Given the description of an element on the screen output the (x, y) to click on. 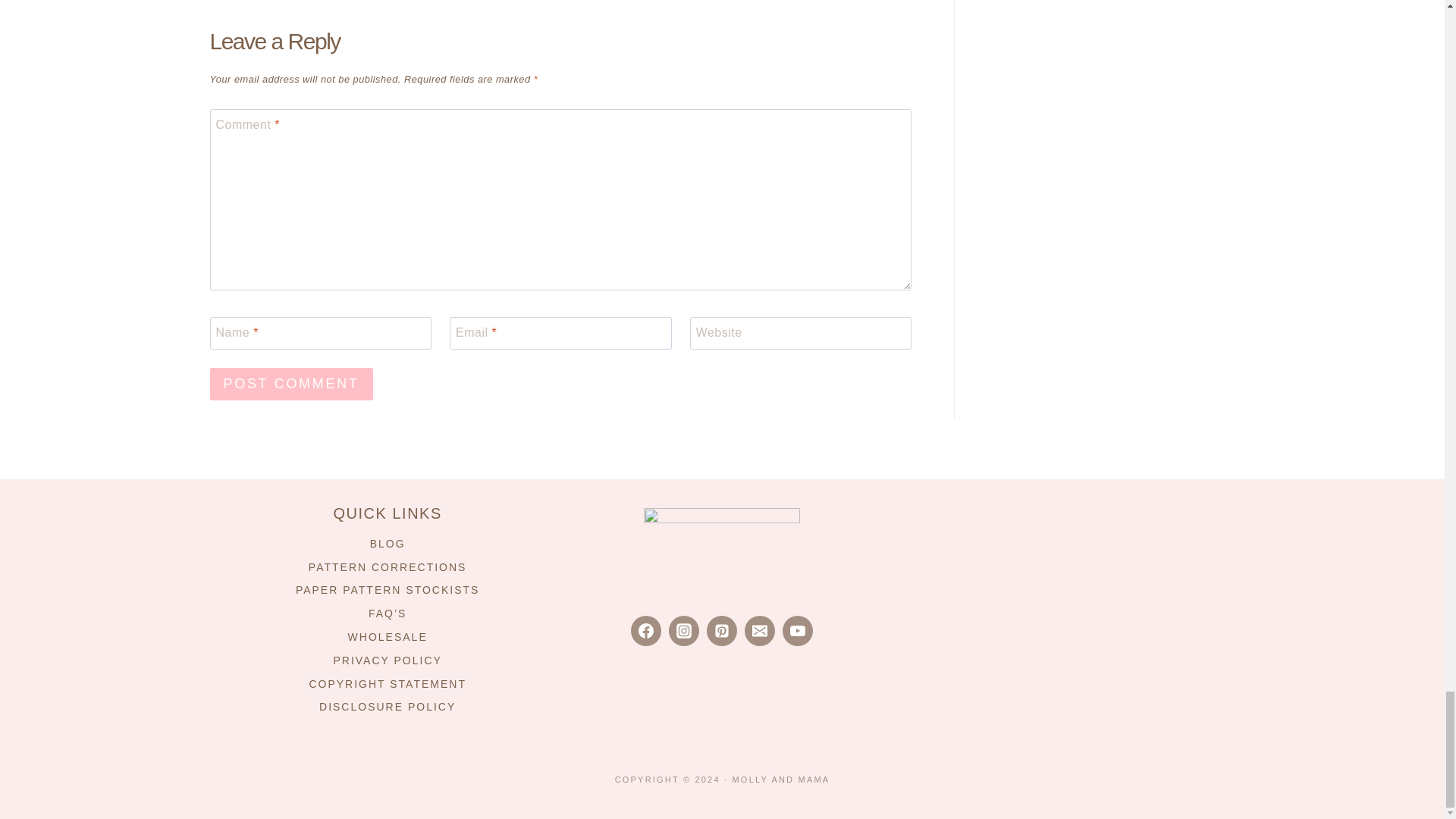
Post Comment (290, 383)
